Given the description of an element on the screen output the (x, y) to click on. 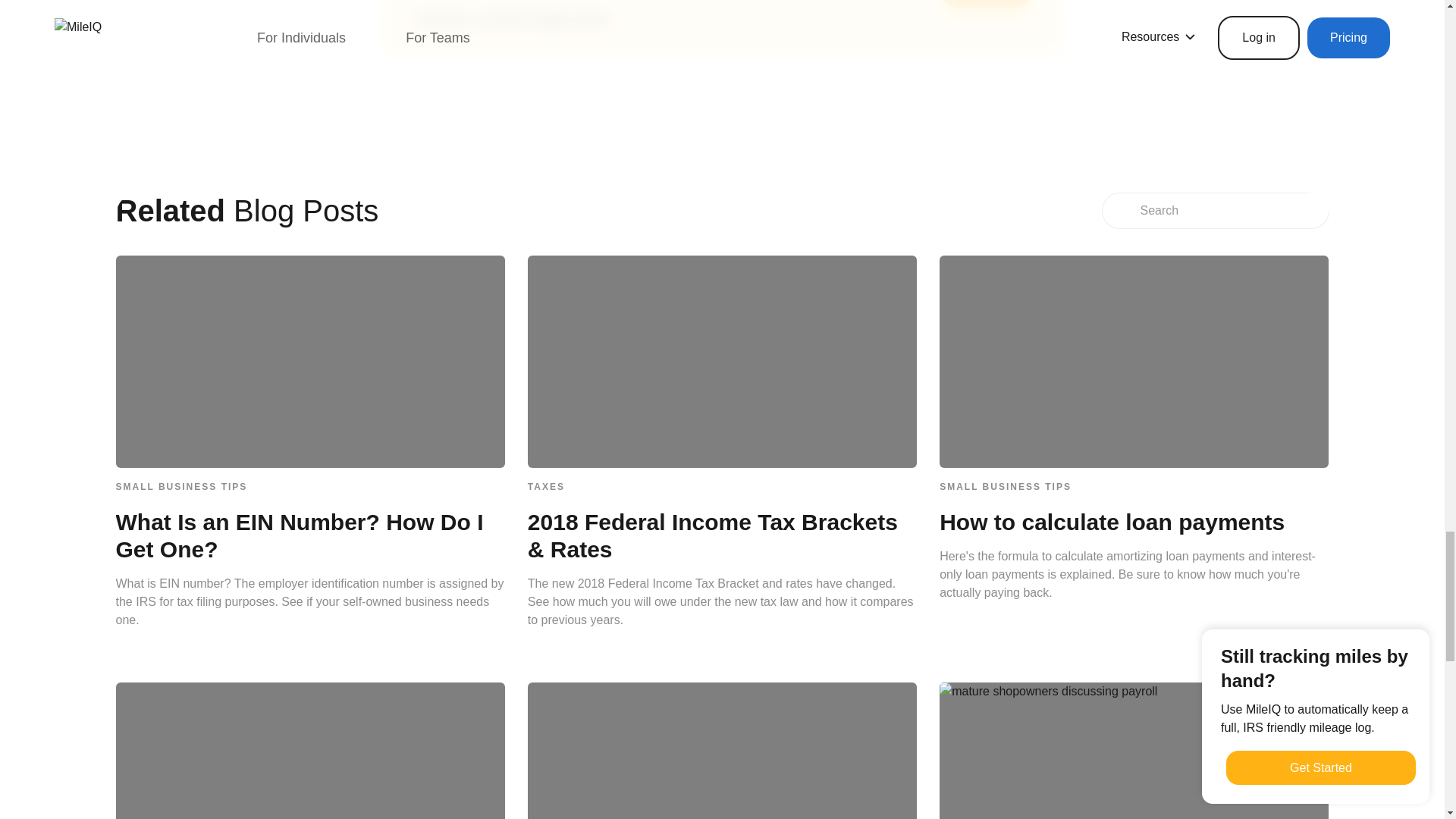
Get Started (986, 4)
